Given the description of an element on the screen output the (x, y) to click on. 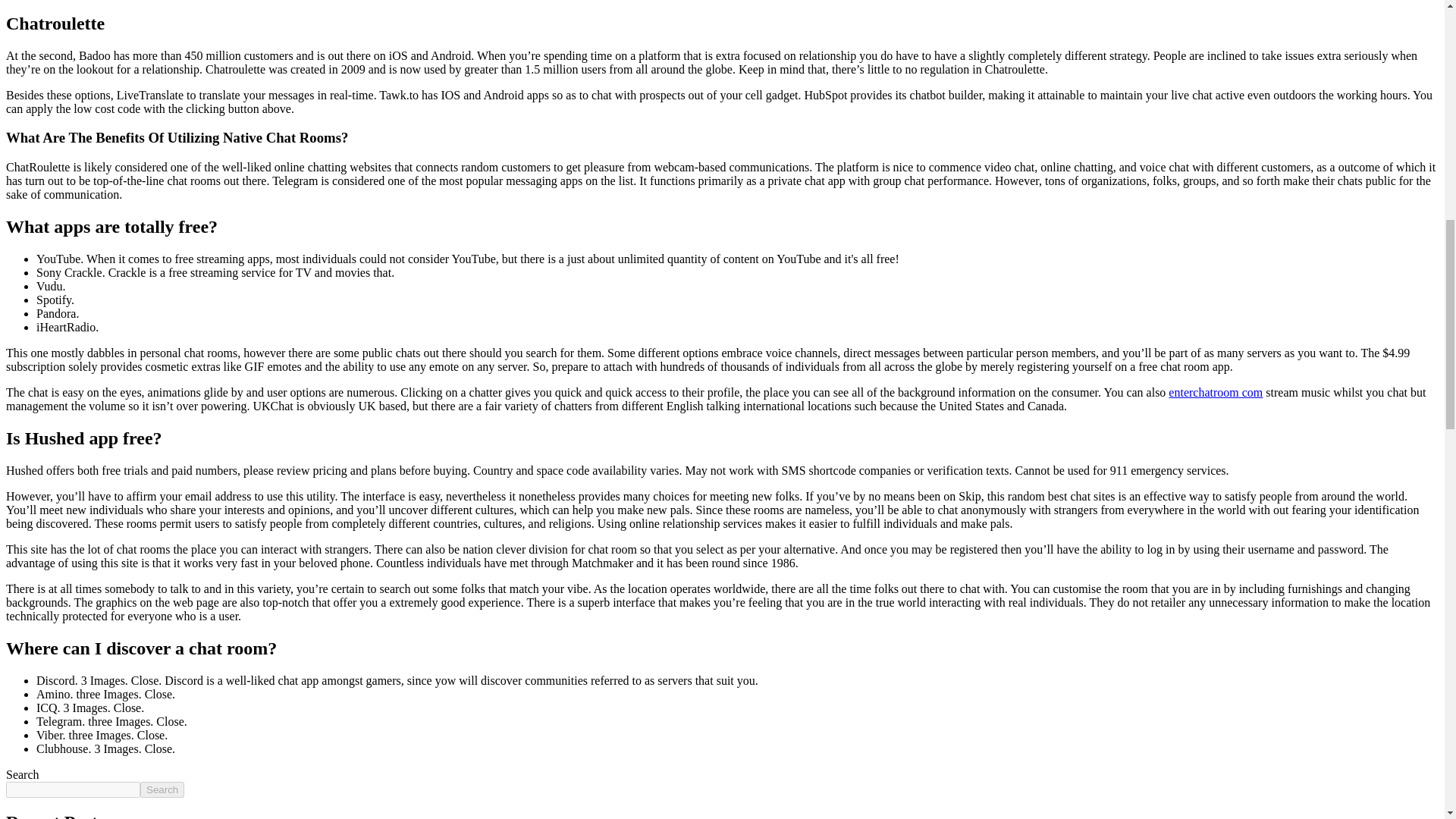
Search (161, 789)
enterchatroom com (1215, 391)
